Given the description of an element on the screen output the (x, y) to click on. 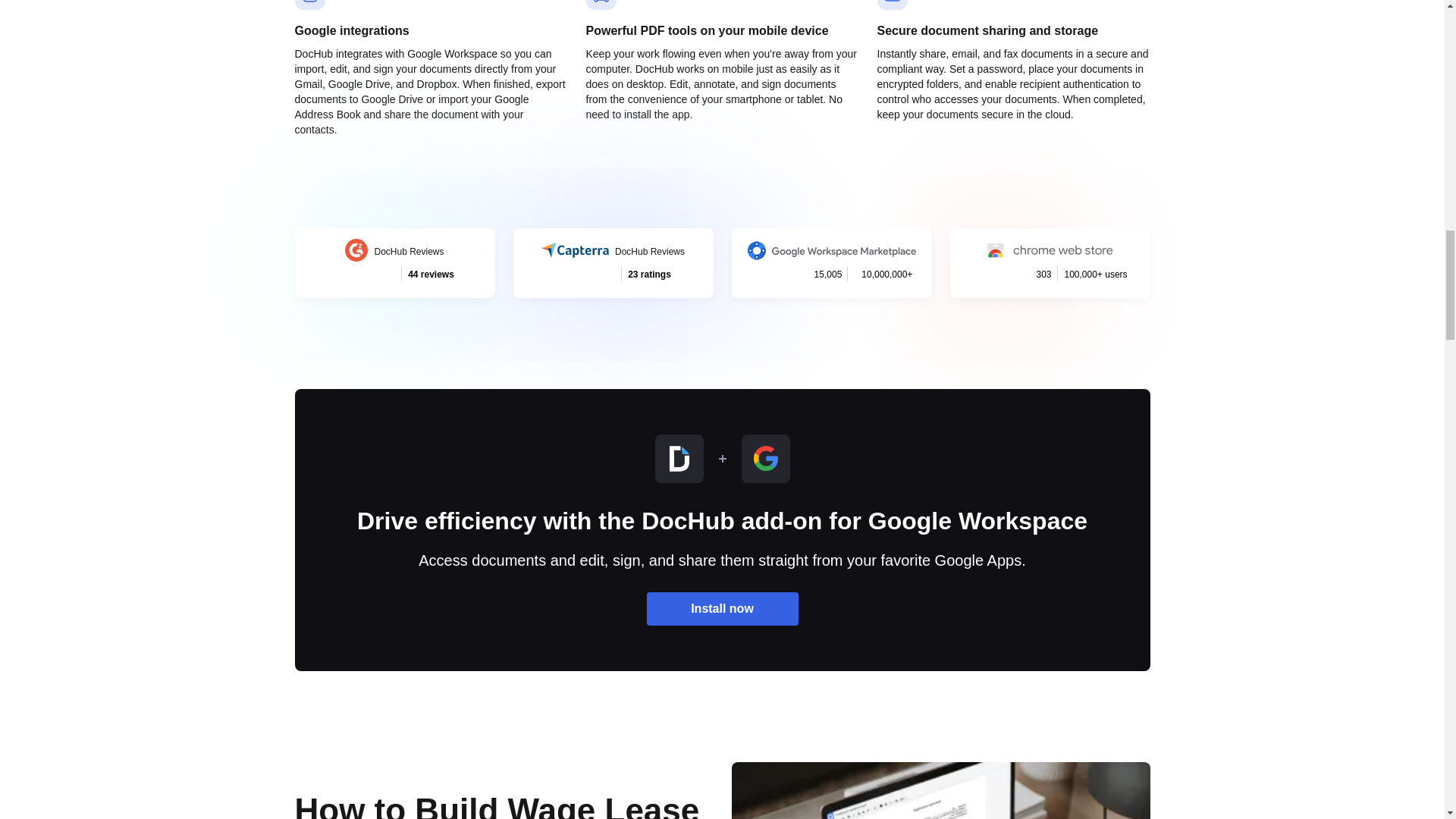
Install now (394, 263)
